Given the description of an element on the screen output the (x, y) to click on. 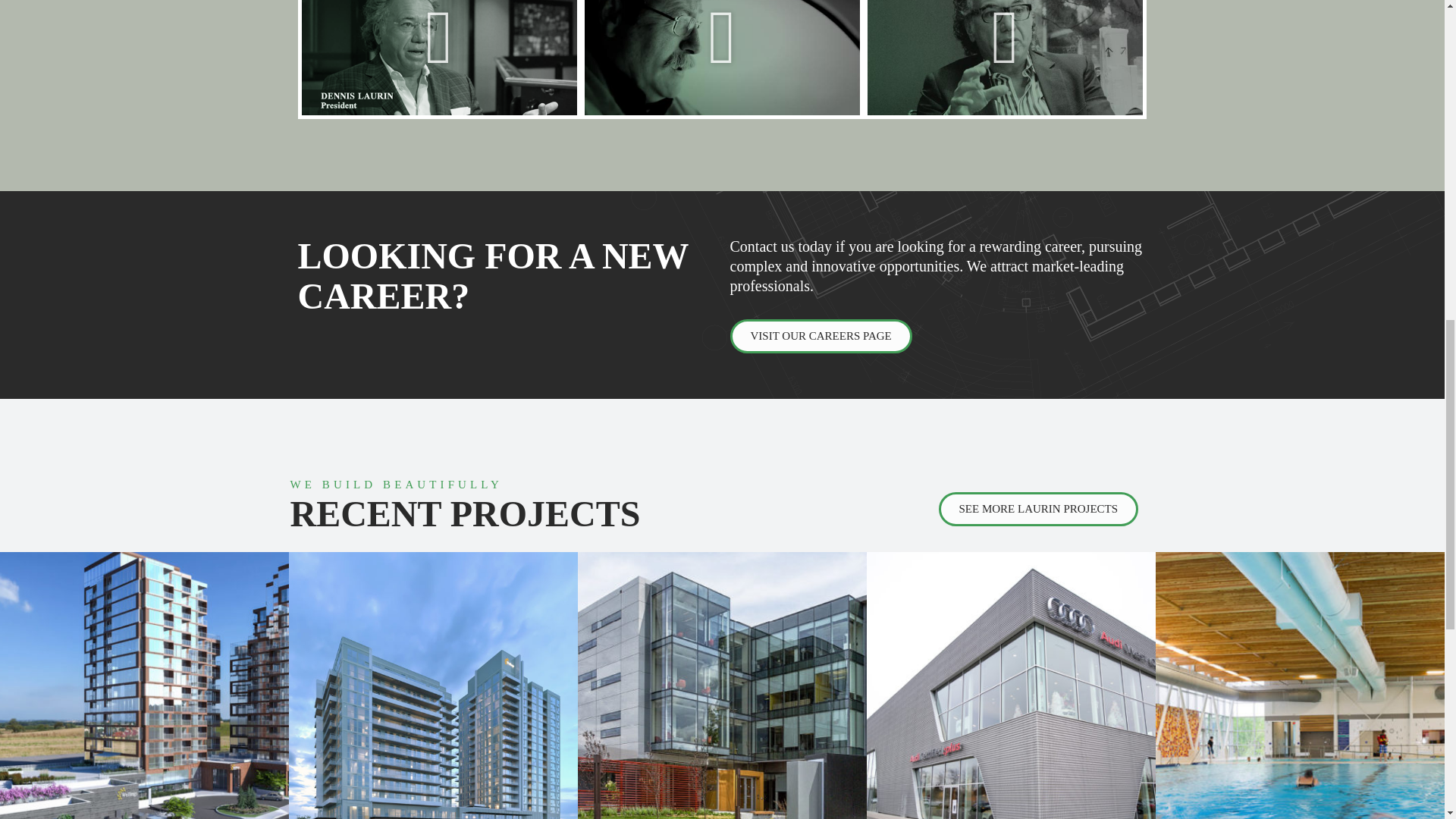
VISIT OUR CAREERS PAGE (820, 335)
vimeo Video Player (1004, 57)
SEE MORE LAURIN PROJECTS (1038, 509)
